Given the description of an element on the screen output the (x, y) to click on. 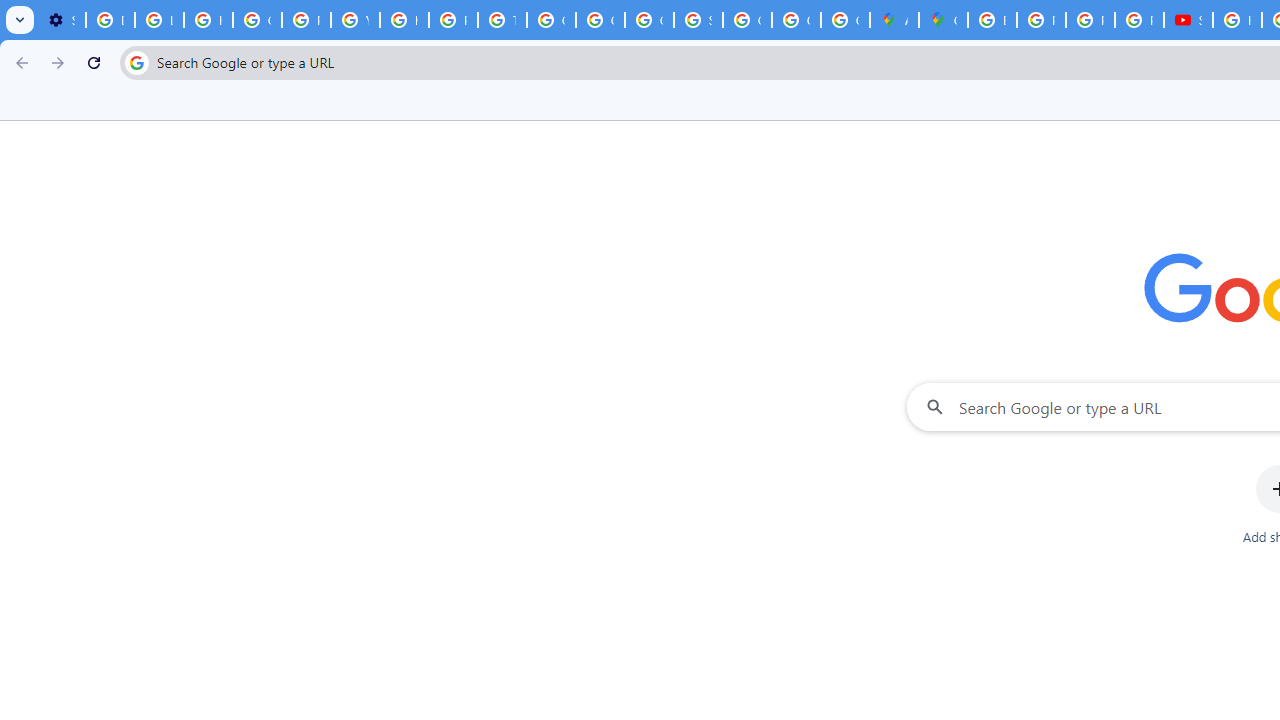
Settings - Customize profile (61, 20)
